Given the description of an element on the screen output the (x, y) to click on. 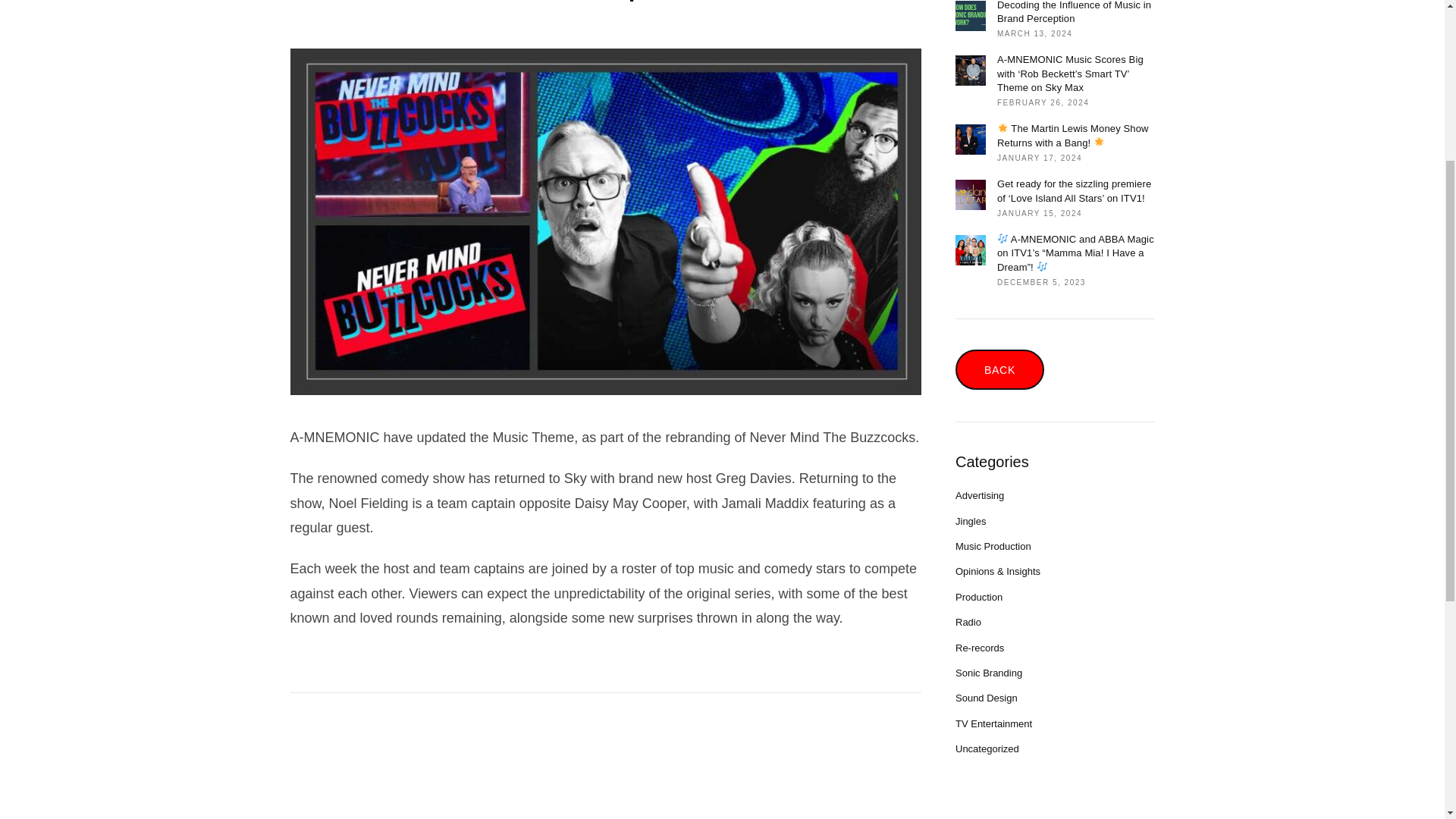
Back (999, 369)
Music Production (992, 546)
Advertising (979, 495)
Decoding the Influence of Music in Brand Perception (853, 279)
Decoding the Influence of Music in Brand Perception (970, 15)
The Martin Lewis Money Show Returns with a Bang! (1075, 135)
Decoding the Influence of Music in Brand Perception (1075, 12)
Decoding the Influence of Music in Brand Perception (1075, 12)
Jingles (970, 521)
